Given the description of an element on the screen output the (x, y) to click on. 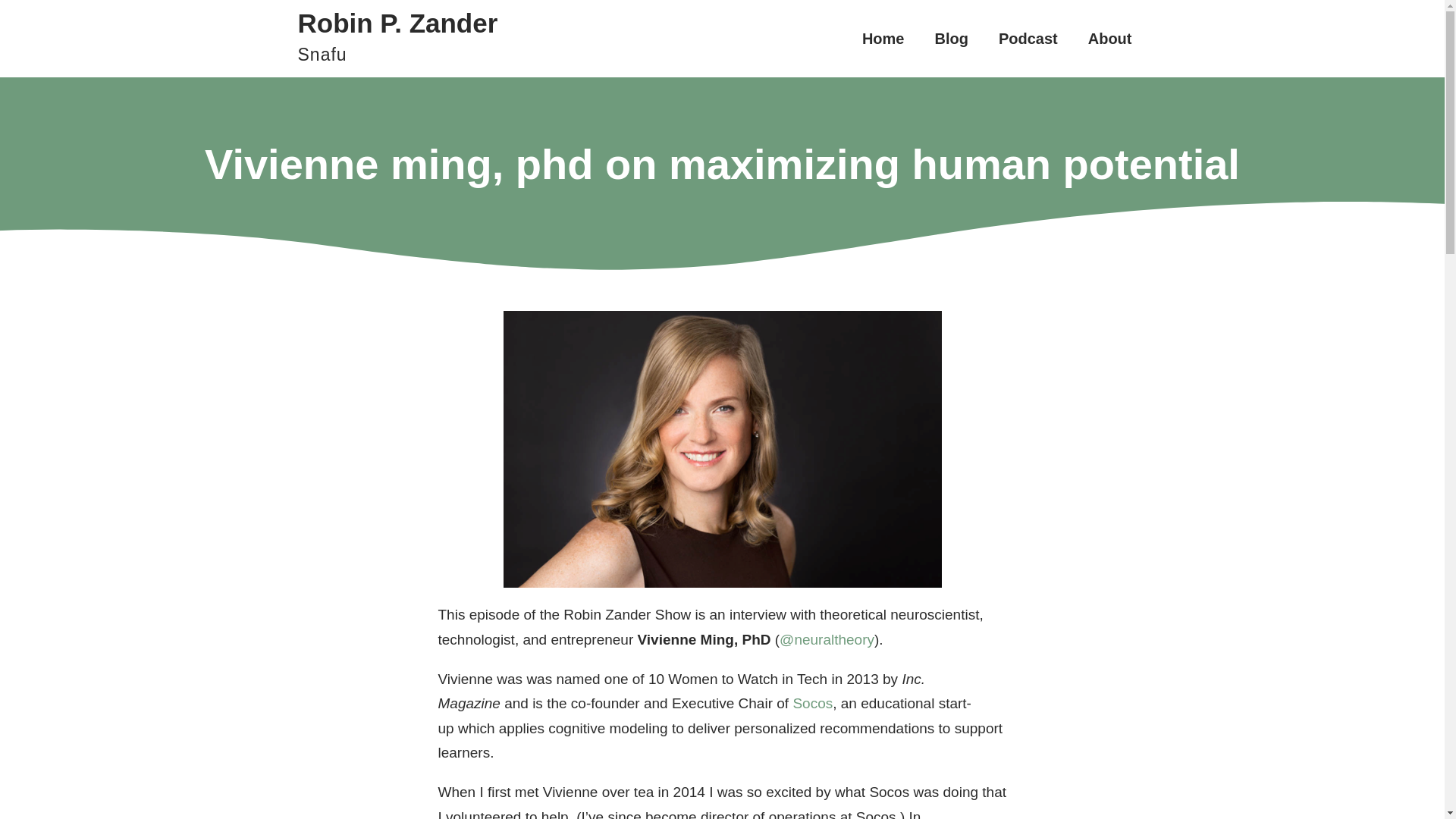
Home (883, 38)
Blog (950, 38)
About (1110, 38)
Podcast (397, 43)
Socos (1028, 38)
